Given the description of an element on the screen output the (x, y) to click on. 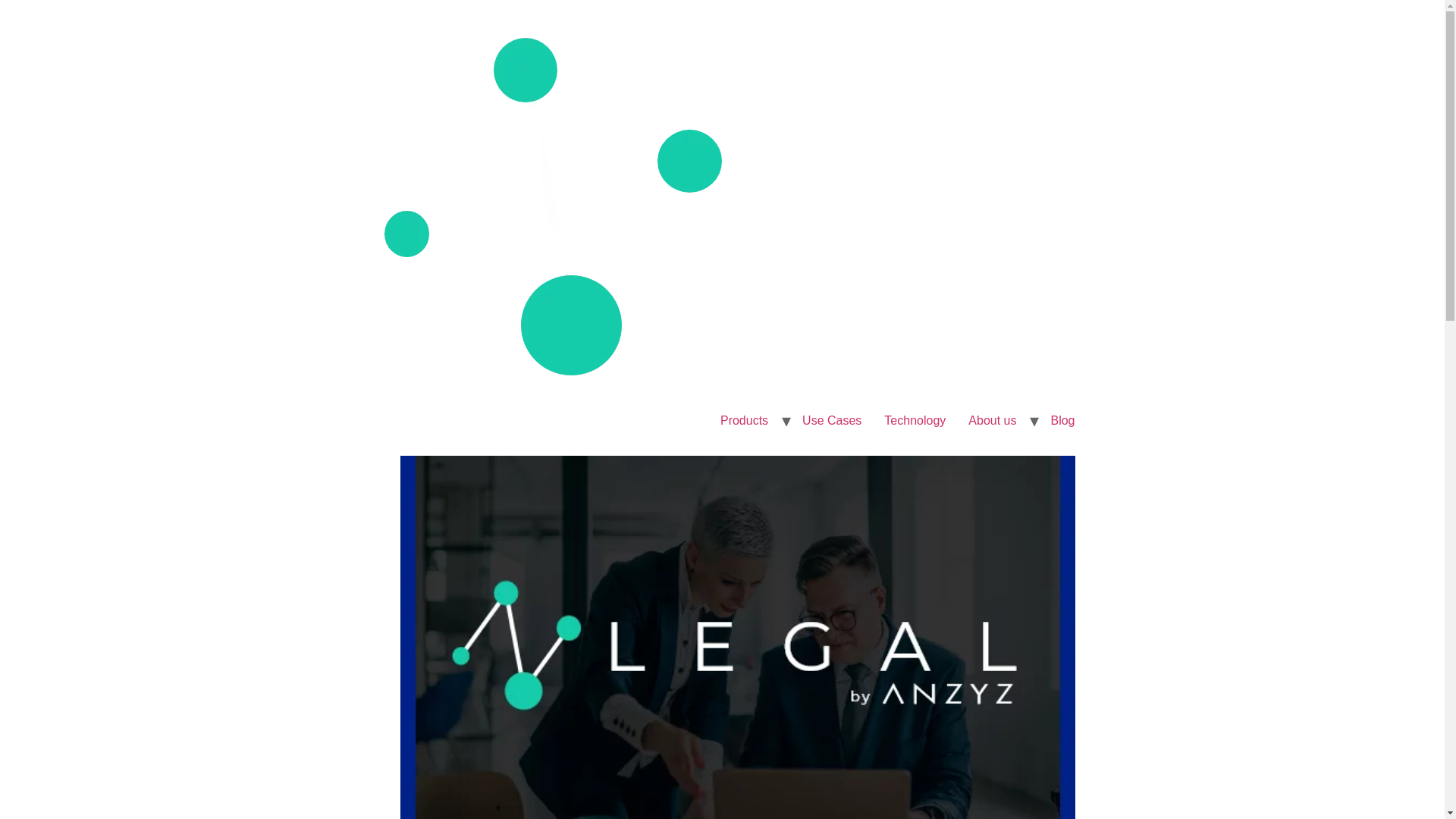
Blog (1062, 420)
Use Cases (831, 420)
About us (991, 420)
Technology (914, 420)
Products (743, 420)
